Given the description of an element on the screen output the (x, y) to click on. 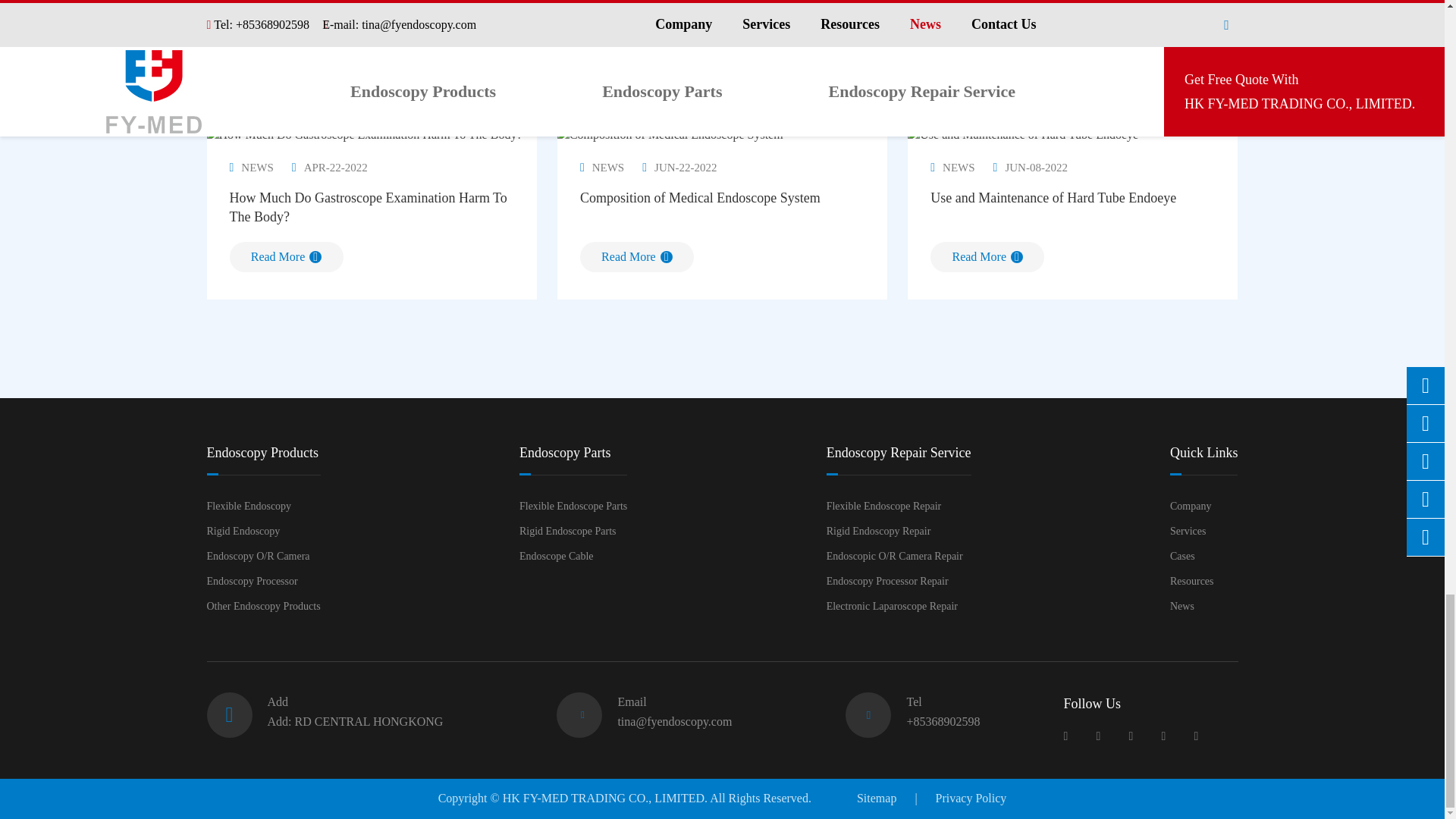
Composition of Medical Endoscope System (670, 135)
How Much Do Gastroscope Examination Harm To The Body? (363, 135)
Use and Maintenance of Hard Tube Endoeye (1022, 135)
